Given the description of an element on the screen output the (x, y) to click on. 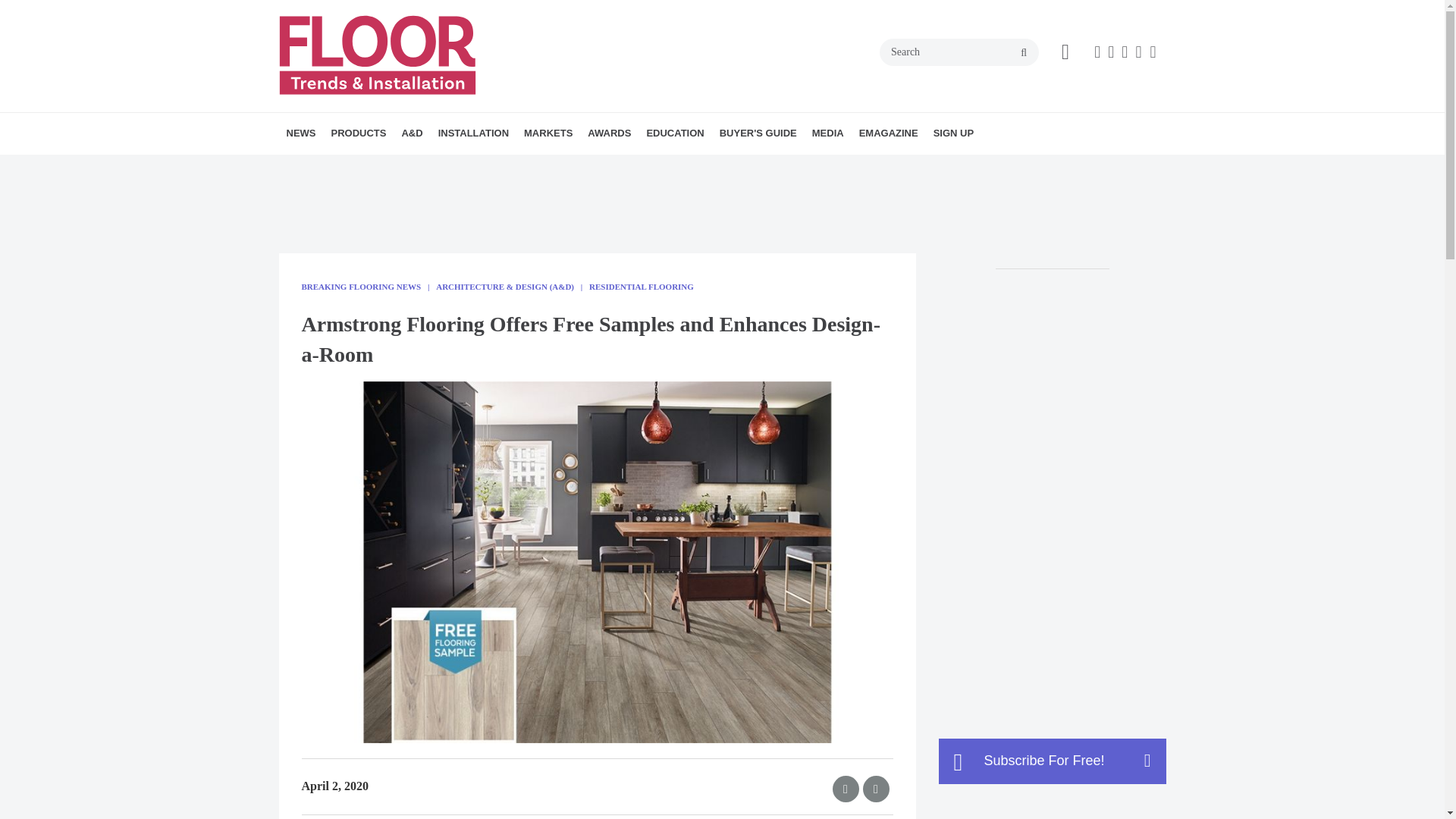
RESIDENTIAL (618, 166)
WEBINARS (740, 166)
MARKETS (547, 133)
PRODUCTS (358, 133)
SPECIALTY (451, 166)
NEWS (301, 133)
BREAKING FLOORING NEWS (373, 166)
INSTALLATION AWARDS (674, 166)
CONTINUING EDUCATION (733, 166)
RESILIENT (448, 166)
